Given the description of an element on the screen output the (x, y) to click on. 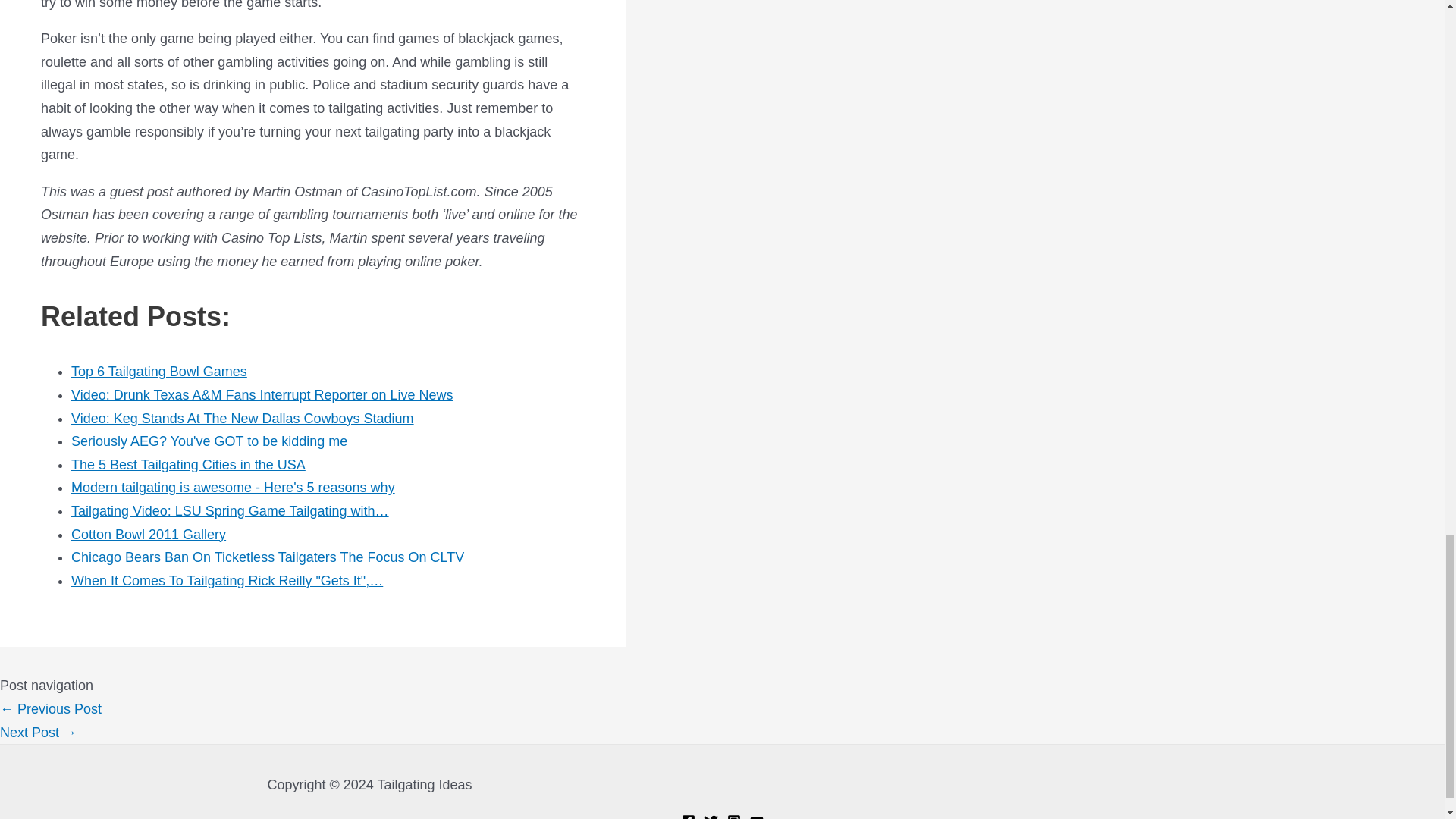
Video: Inside the NFL Tailgating at Green Bay (50, 708)
Soulra XL Solar iPod Speakers (38, 732)
